Given the description of an element on the screen output the (x, y) to click on. 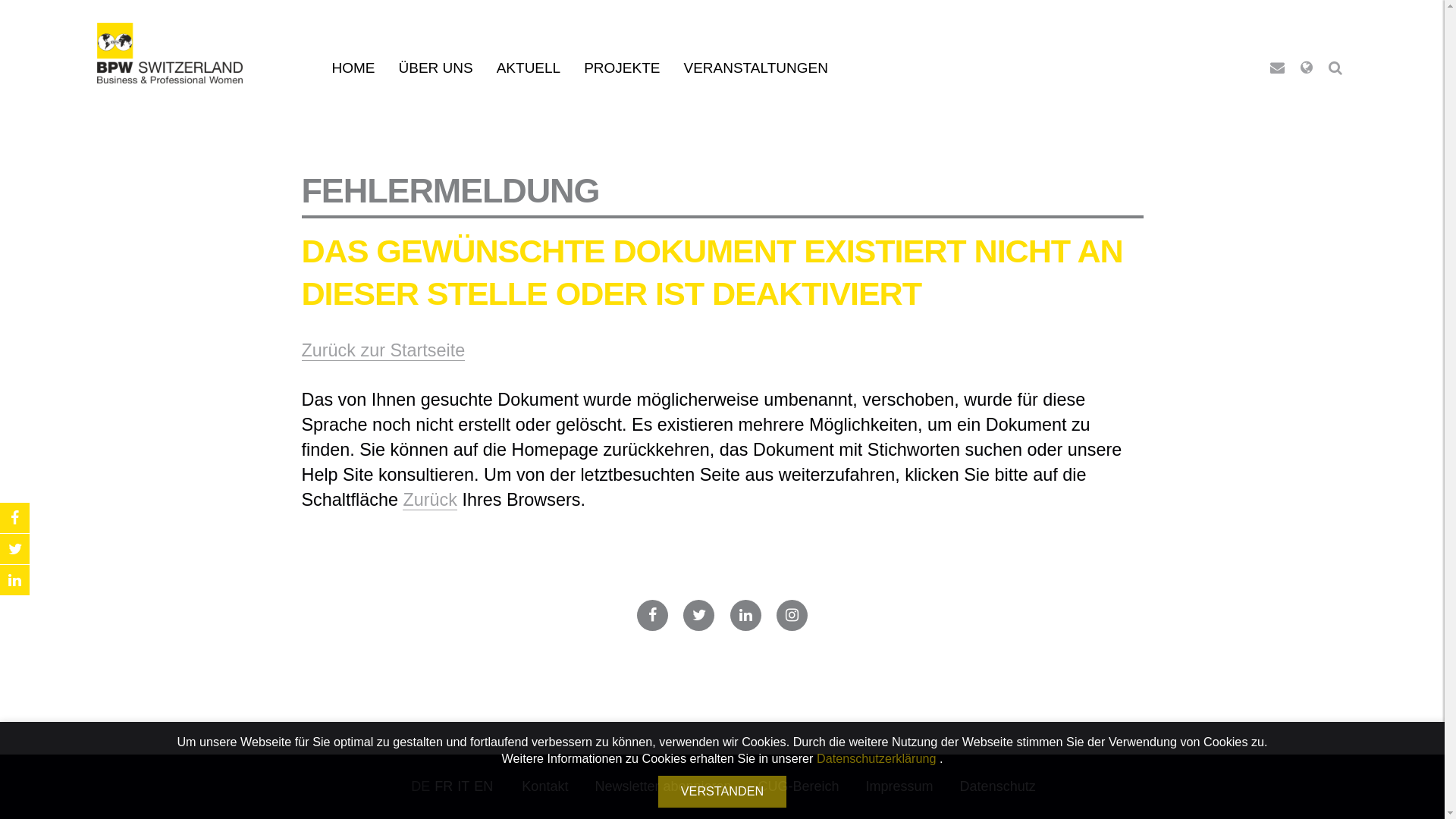
CUG-Bereich Element type: text (798, 785)
Kontakt Element type: text (544, 785)
AKTUELL Element type: text (528, 67)
IT Element type: text (463, 785)
Datenschutz Element type: text (997, 785)
DE Element type: text (420, 785)
EN Element type: text (482, 785)
PROJEKTE Element type: text (621, 67)
VERANSTALTUNGEN Element type: text (754, 67)
Impressum Element type: text (899, 785)
FR Element type: text (443, 785)
VERSTANDEN Element type: text (722, 791)
Newsletter abonnieren Element type: text (664, 785)
HOME Element type: text (352, 67)
